Given the description of an element on the screen output the (x, y) to click on. 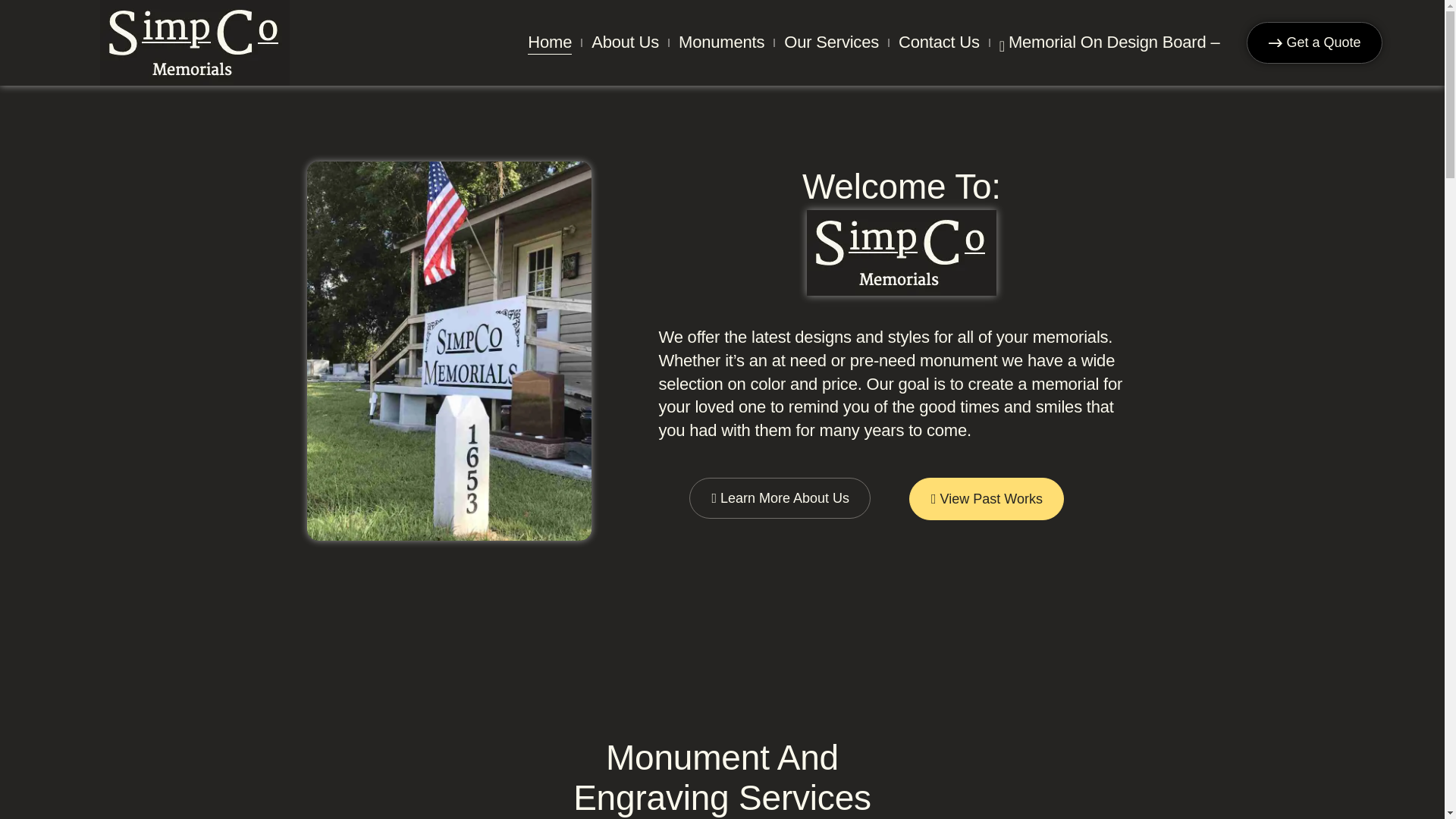
Our Services (831, 42)
About Us (625, 42)
Monuments (721, 42)
Get a Quote (1313, 42)
Home (549, 42)
View Past Works (986, 499)
Contact Us (938, 42)
Learn More About Us (779, 497)
